Given the description of an element on the screen output the (x, y) to click on. 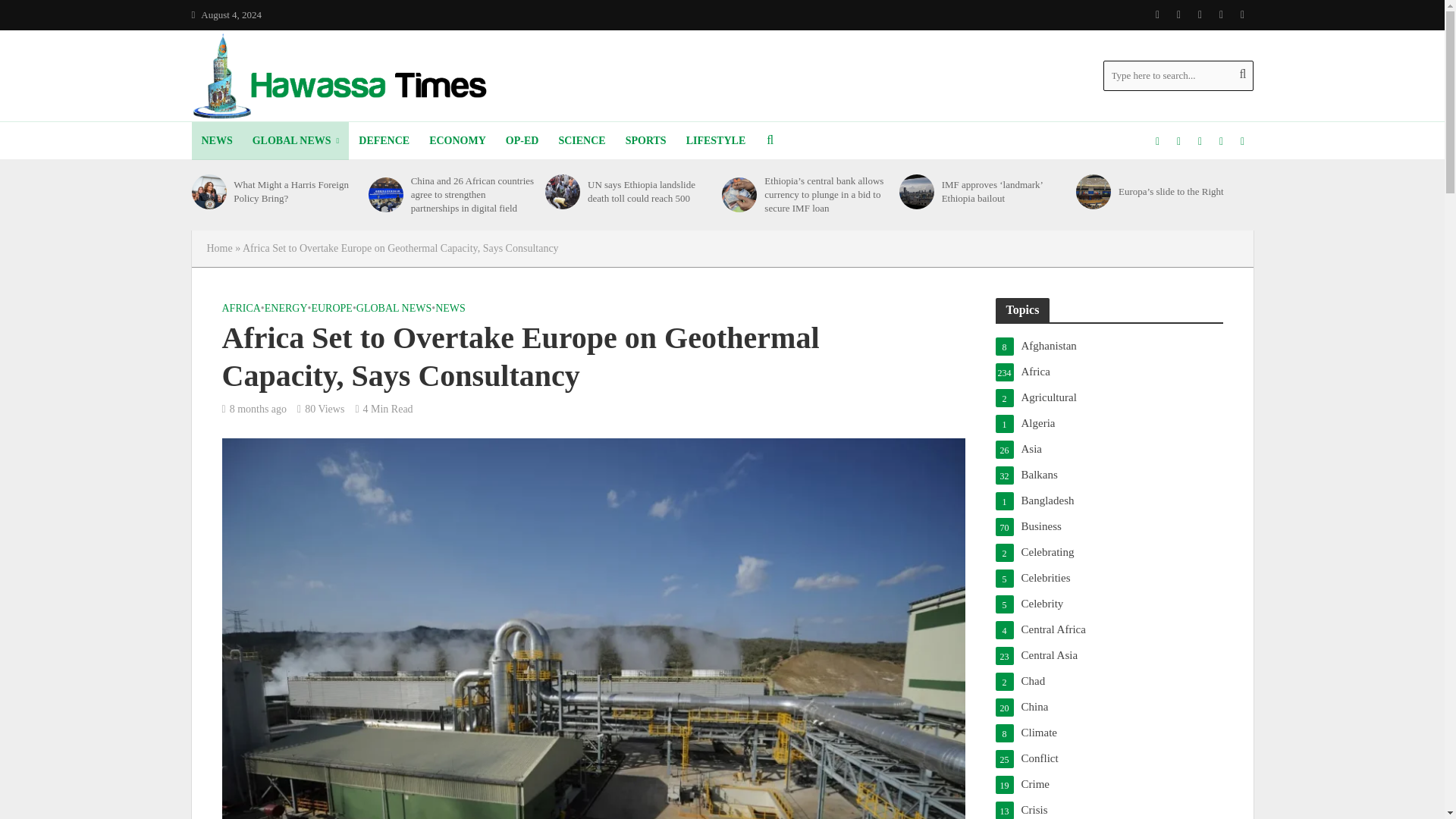
GLOBAL NEWS (296, 140)
What Might a Harris Foreign Policy Bring? (207, 191)
NEWS (215, 140)
UN says Ethiopia landslide death toll could reach 500 (561, 191)
